Given the description of an element on the screen output the (x, y) to click on. 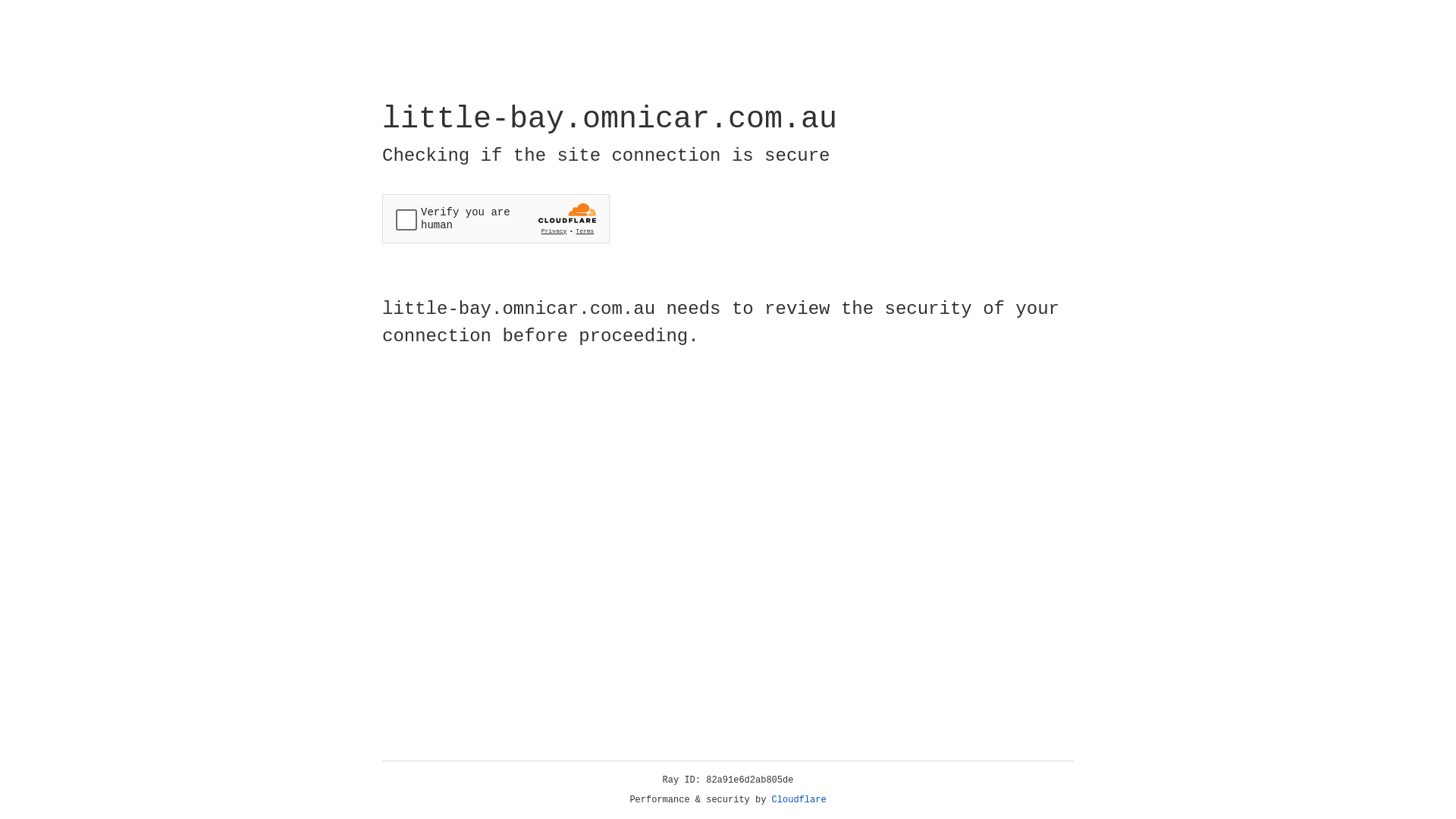
Widget containing a Cloudflare security challenge Element type: hover (495, 218)
Cloudflare Element type: text (798, 799)
